Given the description of an element on the screen output the (x, y) to click on. 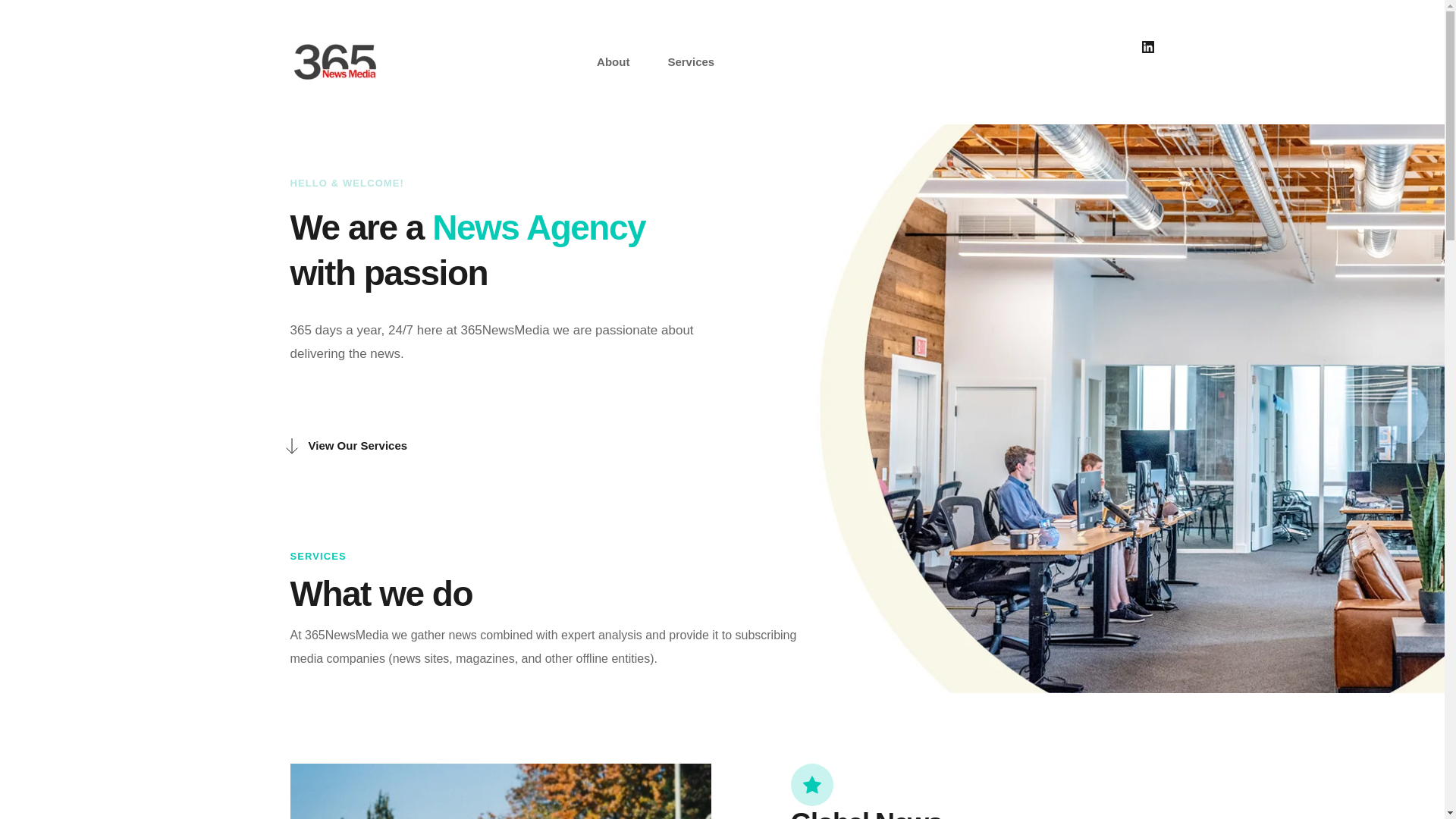
View Our Services Element type: text (344, 445)
About Element type: text (612, 61)
Services Element type: text (690, 61)
